Given the description of an element on the screen output the (x, y) to click on. 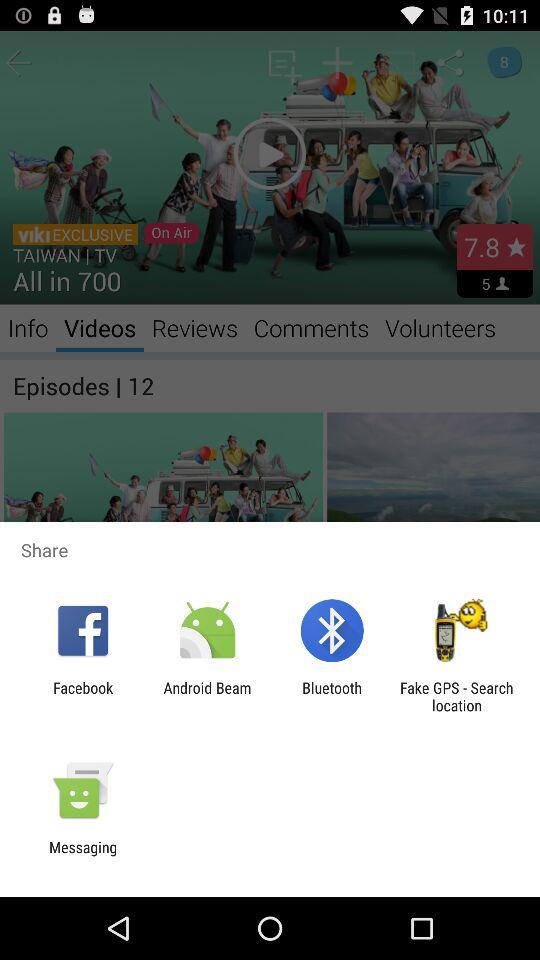
turn on the messaging (83, 856)
